Given the description of an element on the screen output the (x, y) to click on. 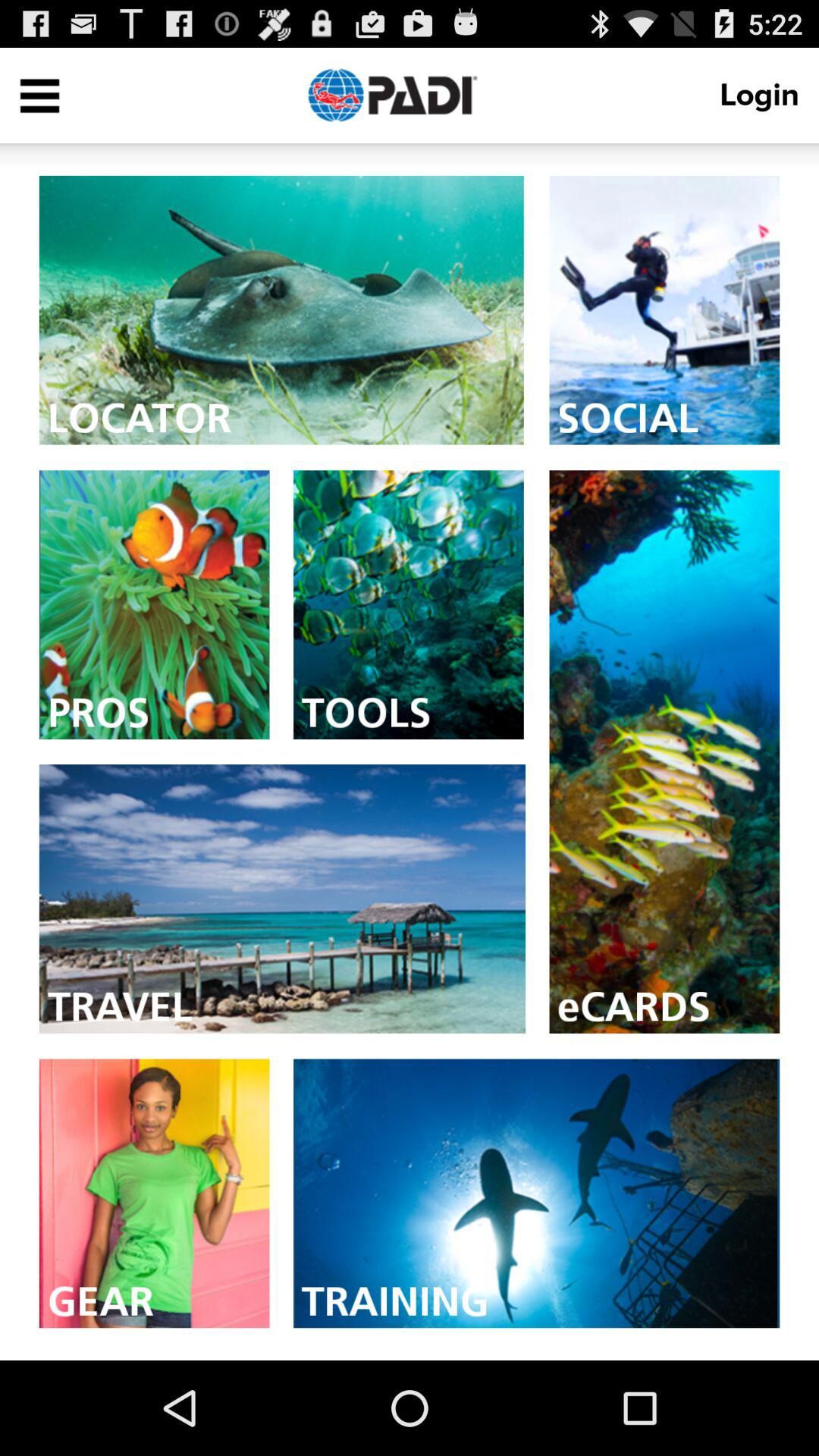
go to gear (154, 1193)
